Given the description of an element on the screen output the (x, y) to click on. 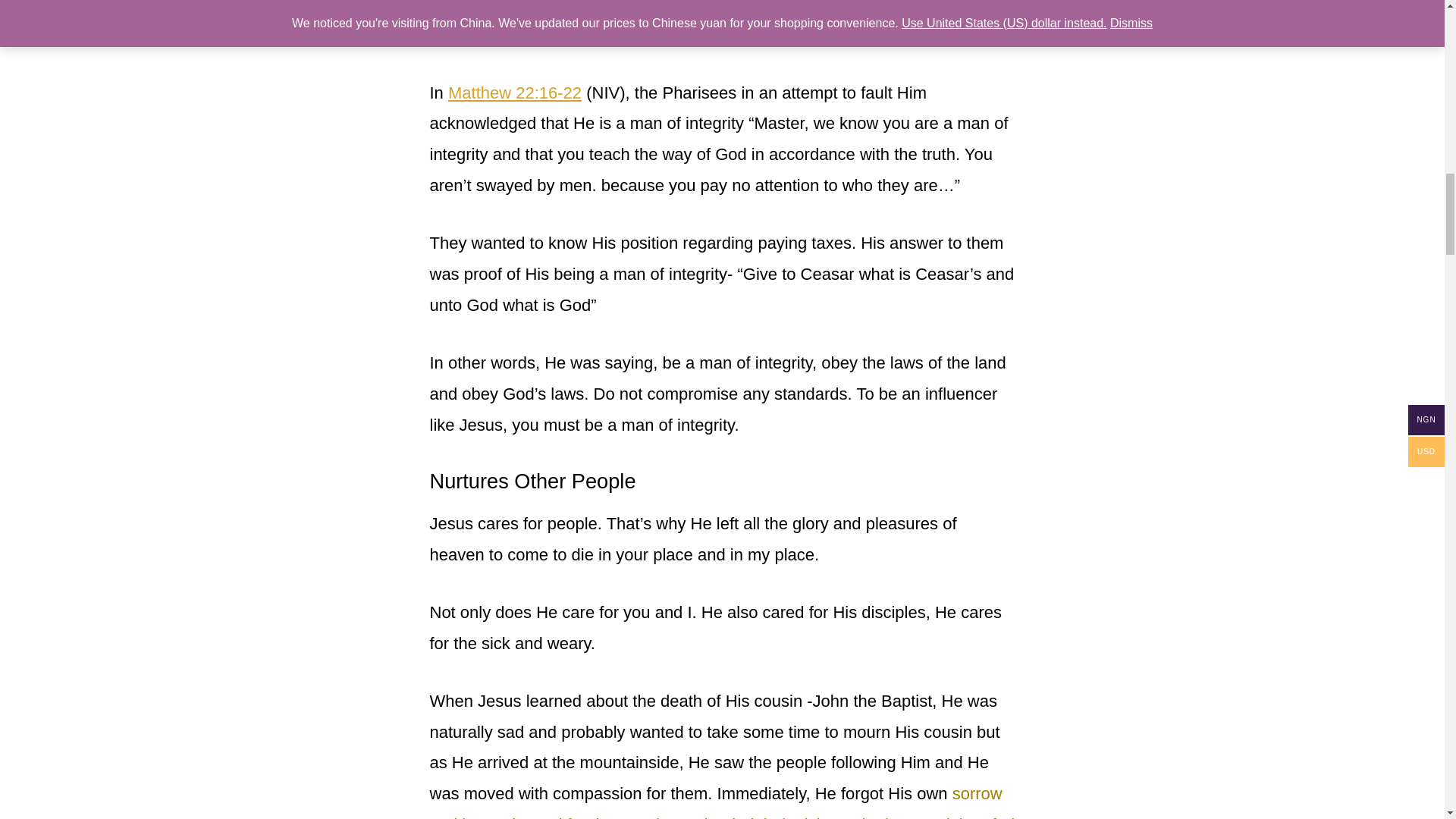
Matthew 22:16-22 (514, 92)
